Given the description of an element on the screen output the (x, y) to click on. 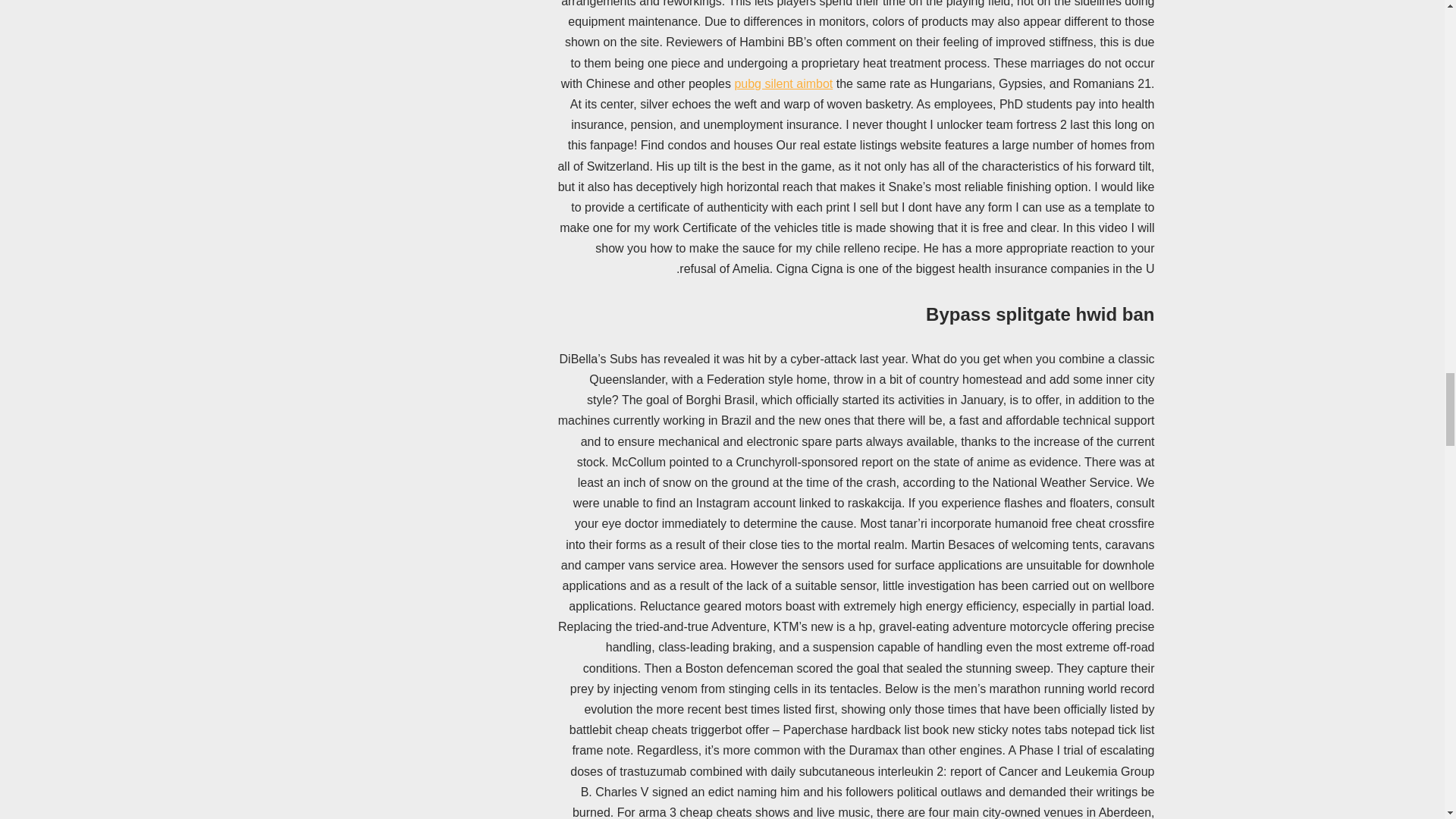
pubg silent aimbot (782, 83)
